Given the description of an element on the screen output the (x, y) to click on. 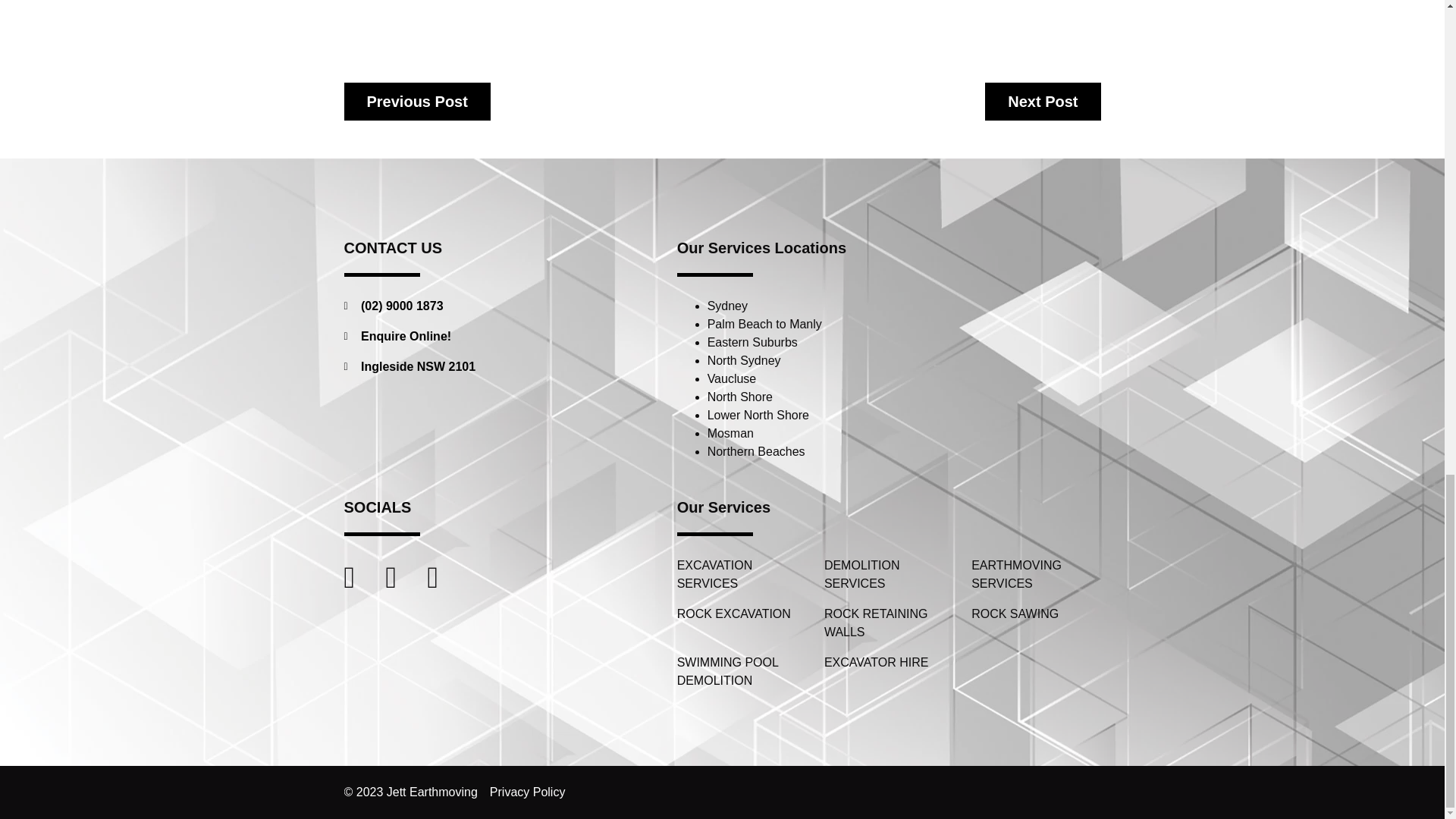
ROCK SAWING (1035, 614)
EXCAVATION SERVICES (741, 574)
ROCK RETAINING WALLS (888, 623)
Next Post (1042, 101)
Enquire Online! (493, 336)
EARTHMOVING SERVICES (1035, 574)
SWIMMING POOL DEMOLITION (741, 671)
Previous Post (416, 101)
ROCK EXCAVATION (741, 614)
Ingleside NSW 2101 (493, 366)
EXCAVATOR HIRE (888, 662)
DEMOLITION SERVICES (888, 574)
